Given the description of an element on the screen output the (x, y) to click on. 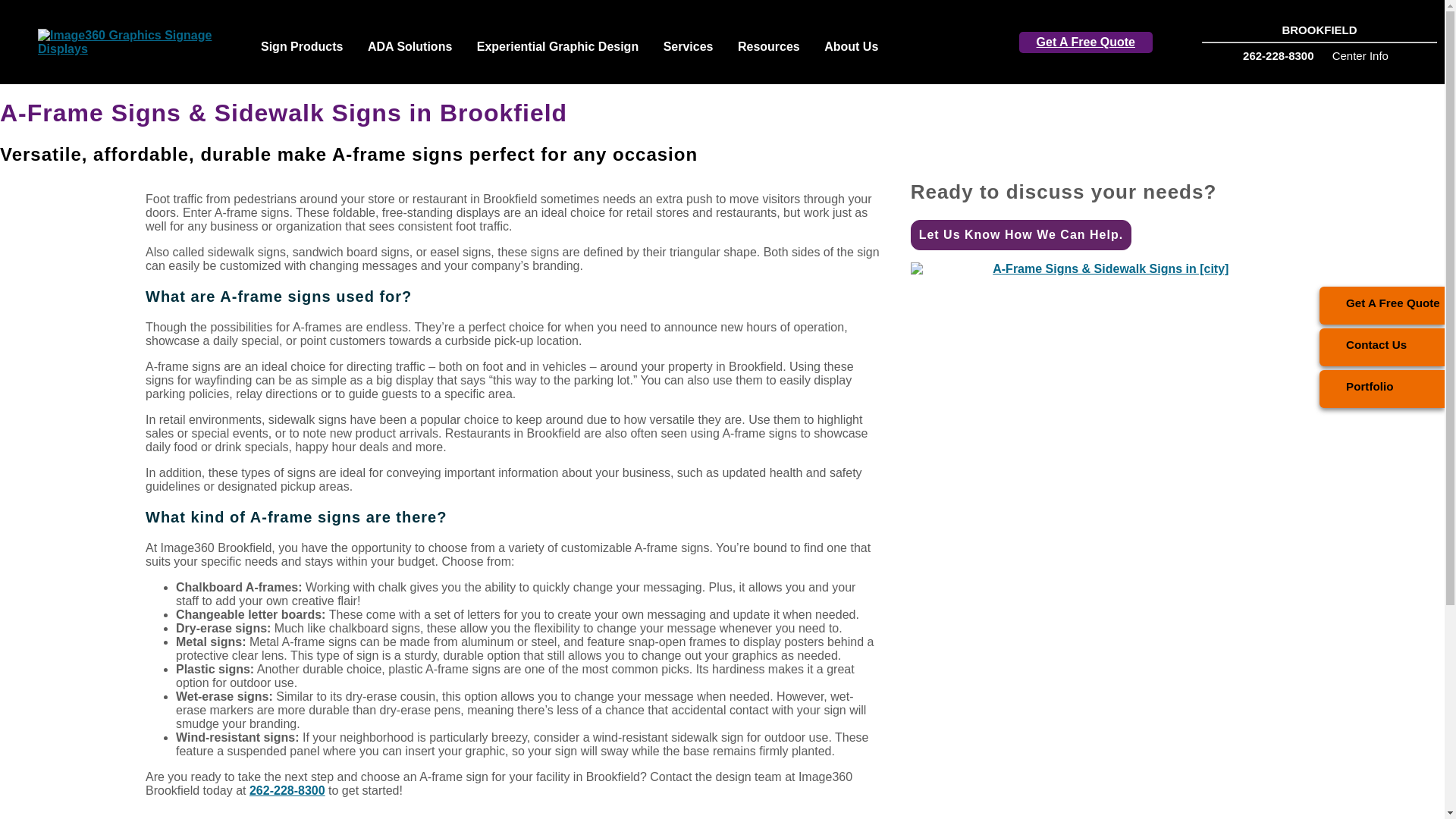
Search (903, 35)
Sign Products (301, 48)
Let us know how we can help. (1021, 235)
